Given the description of an element on the screen output the (x, y) to click on. 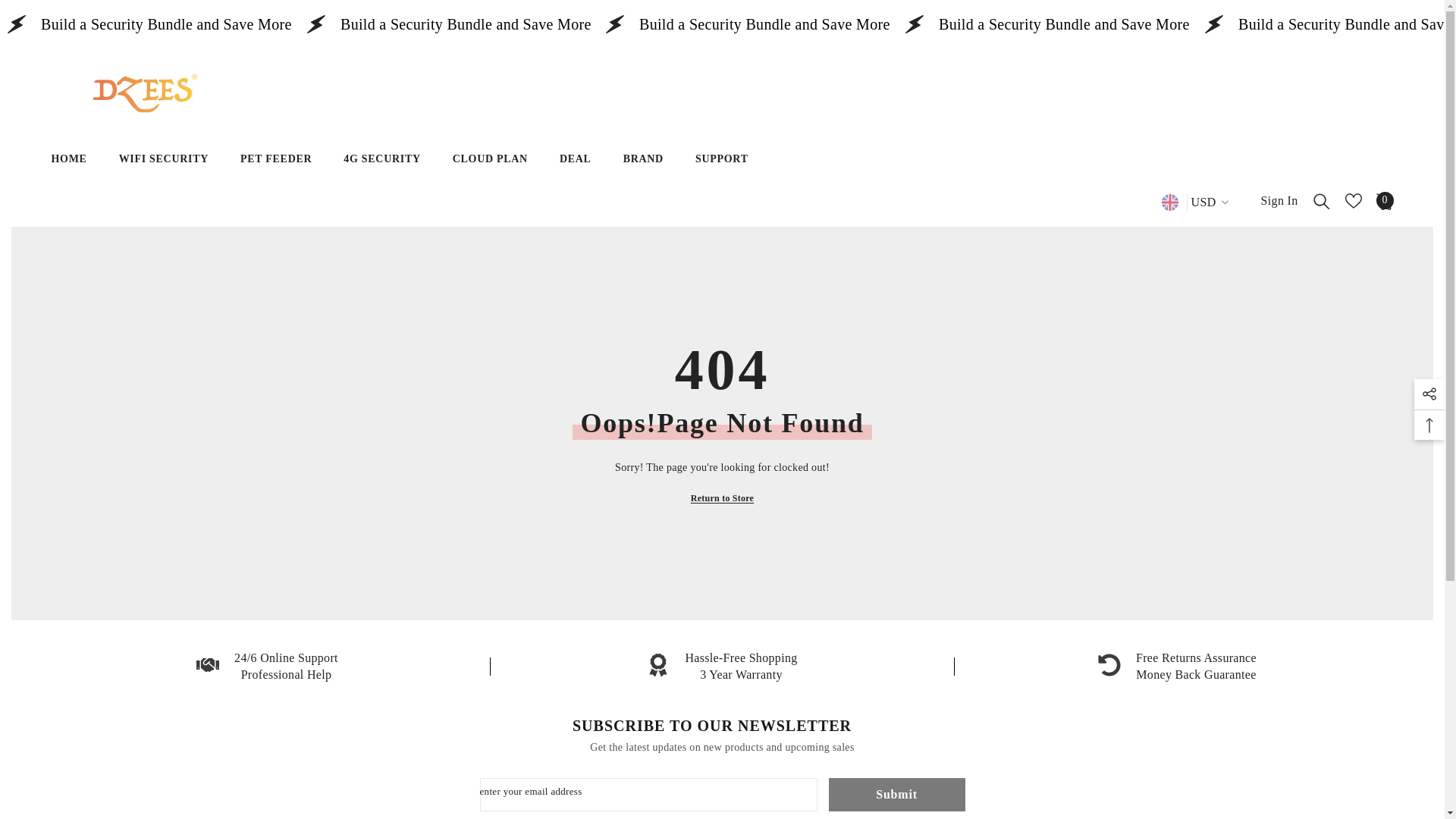
4G SECURITY (381, 169)
PET FEEDER (275, 170)
BRAND (643, 169)
WIFI SECURITY (163, 181)
HOME (67, 183)
CLOUD PLAN (489, 169)
DEAL (575, 169)
